Given the description of an element on the screen output the (x, y) to click on. 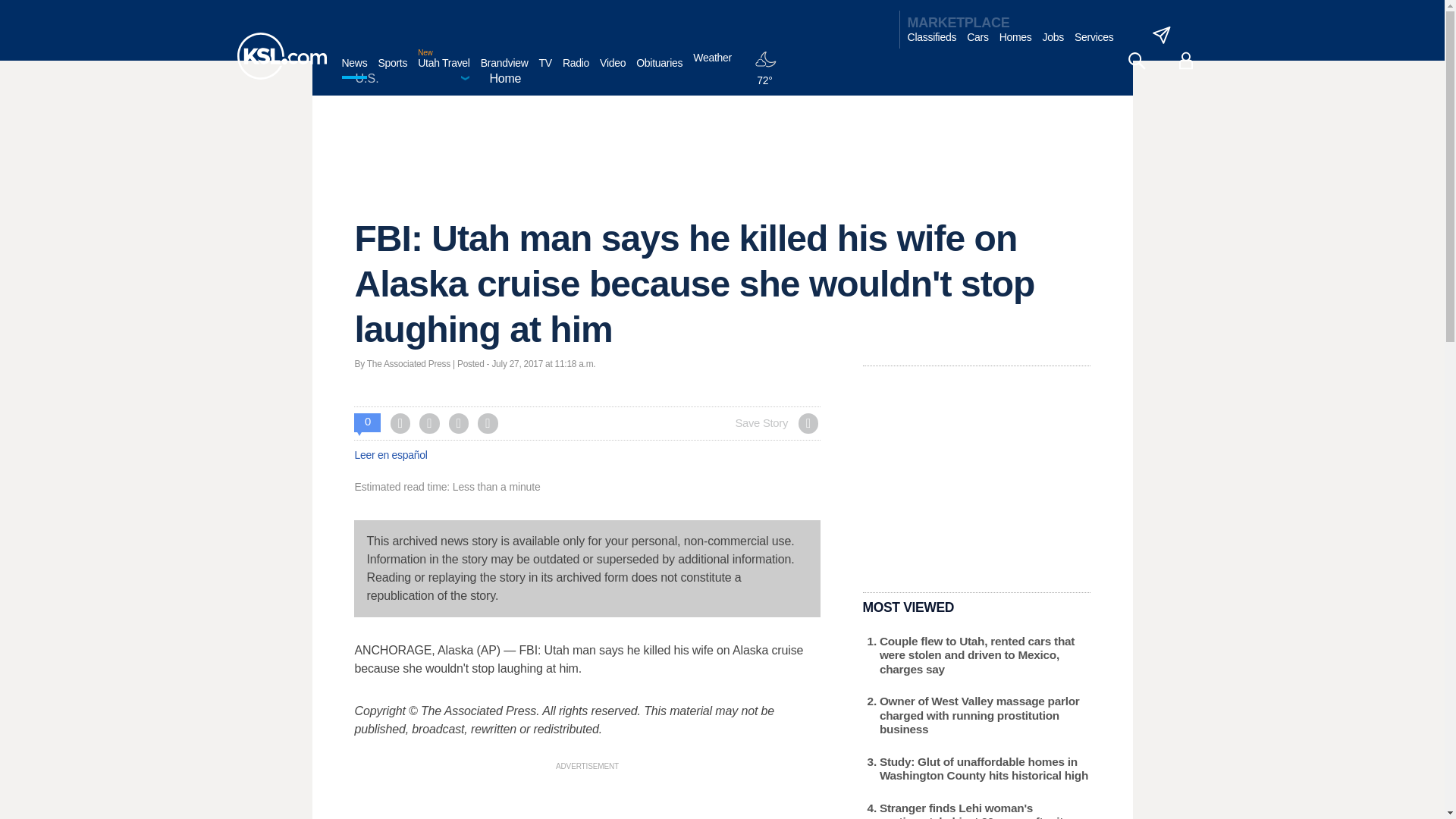
KSL homepage (280, 55)
search (1135, 60)
account - logged out (1185, 60)
